Given the description of an element on the screen output the (x, y) to click on. 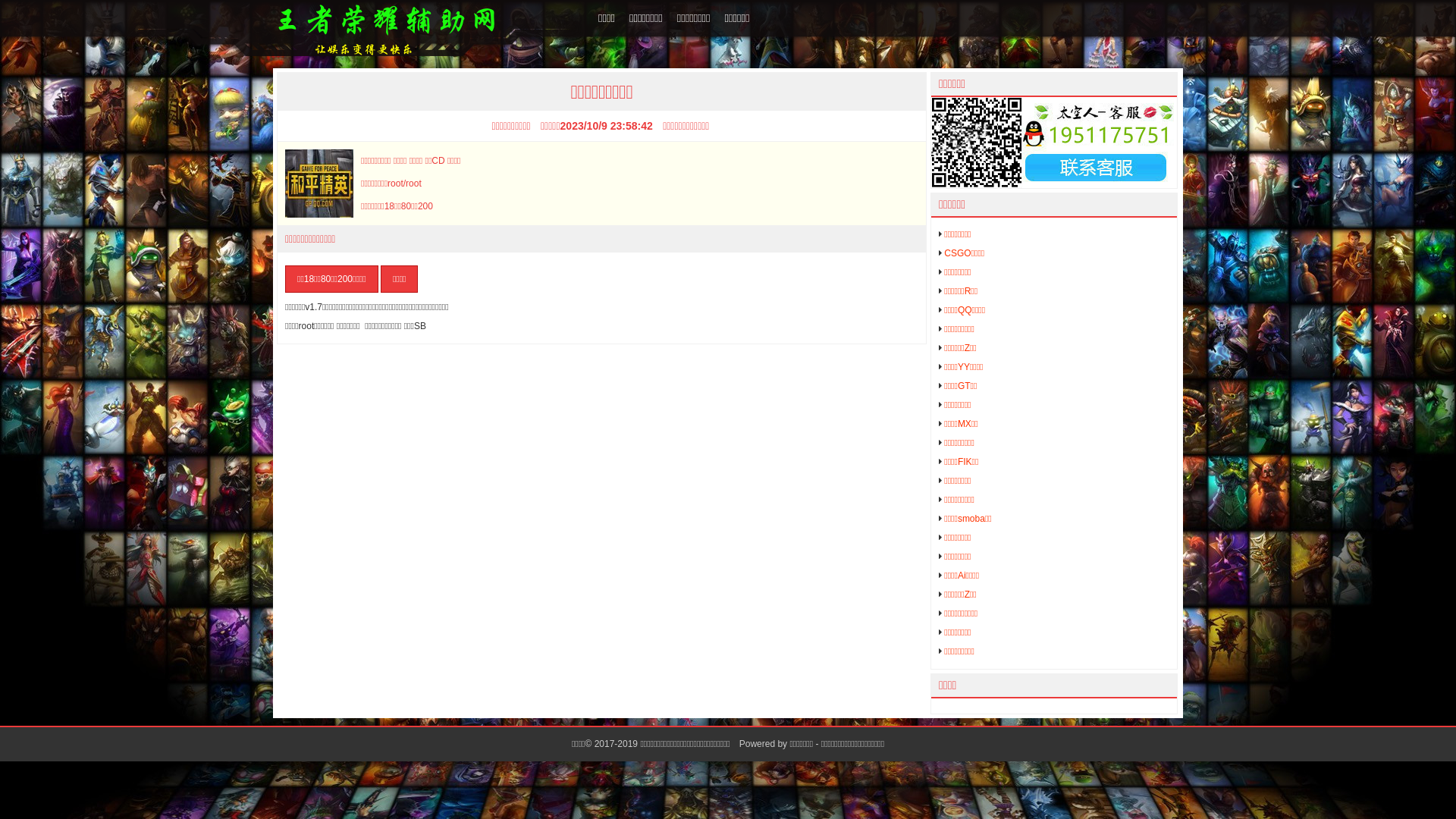
666666666.jpg Element type: hover (1053, 142)
